Given the description of an element on the screen output the (x, y) to click on. 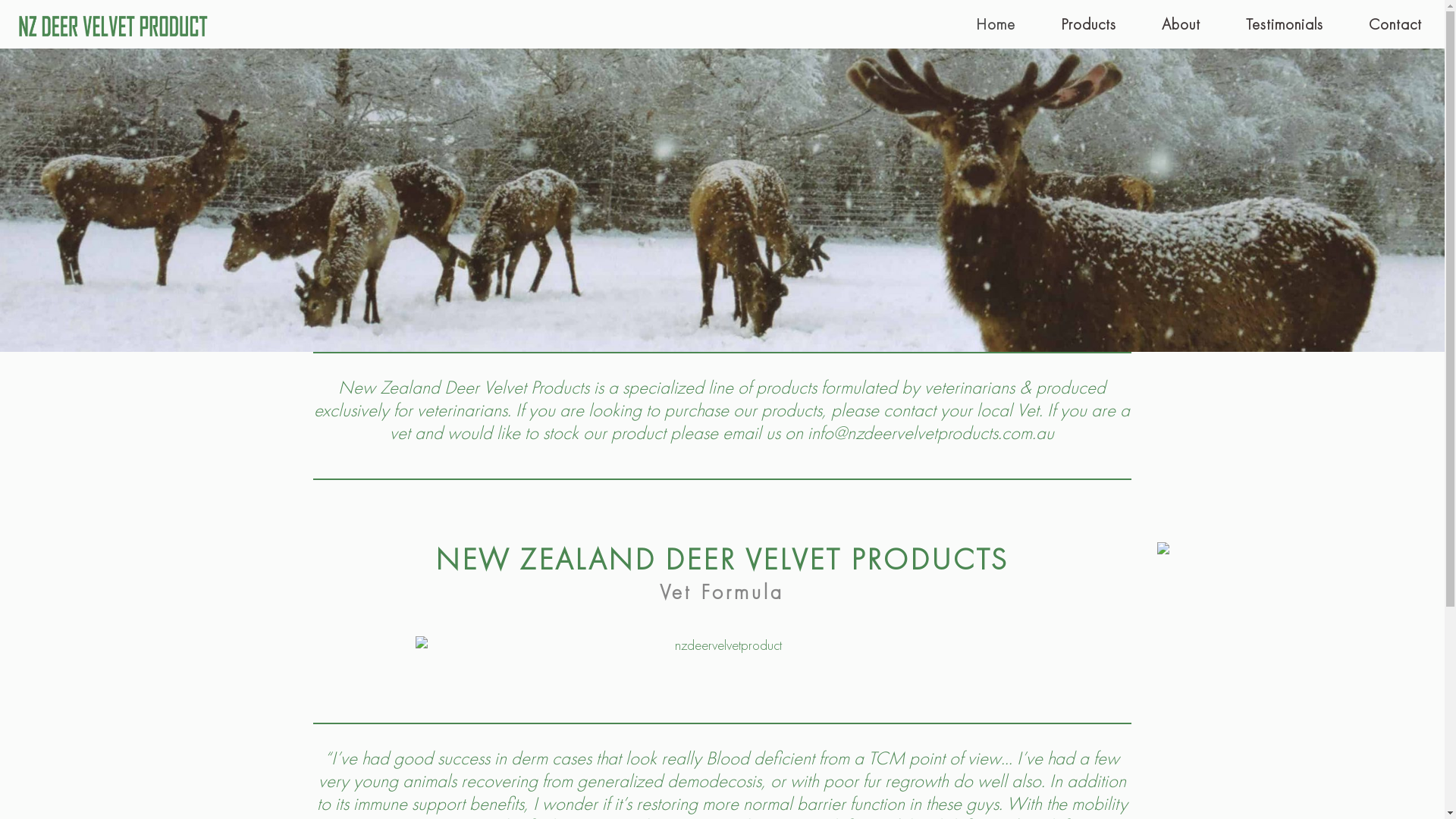
Testimonials Element type: text (1284, 24)
info@nzdeervelvetproducts.com.au Element type: text (930, 432)
Contact Element type: text (1395, 24)
Products Element type: text (1088, 24)
NZ Deer Velvet Products Element type: hover (112, 24)
About Element type: text (1181, 24)
Home Element type: text (995, 24)
